Given the description of an element on the screen output the (x, y) to click on. 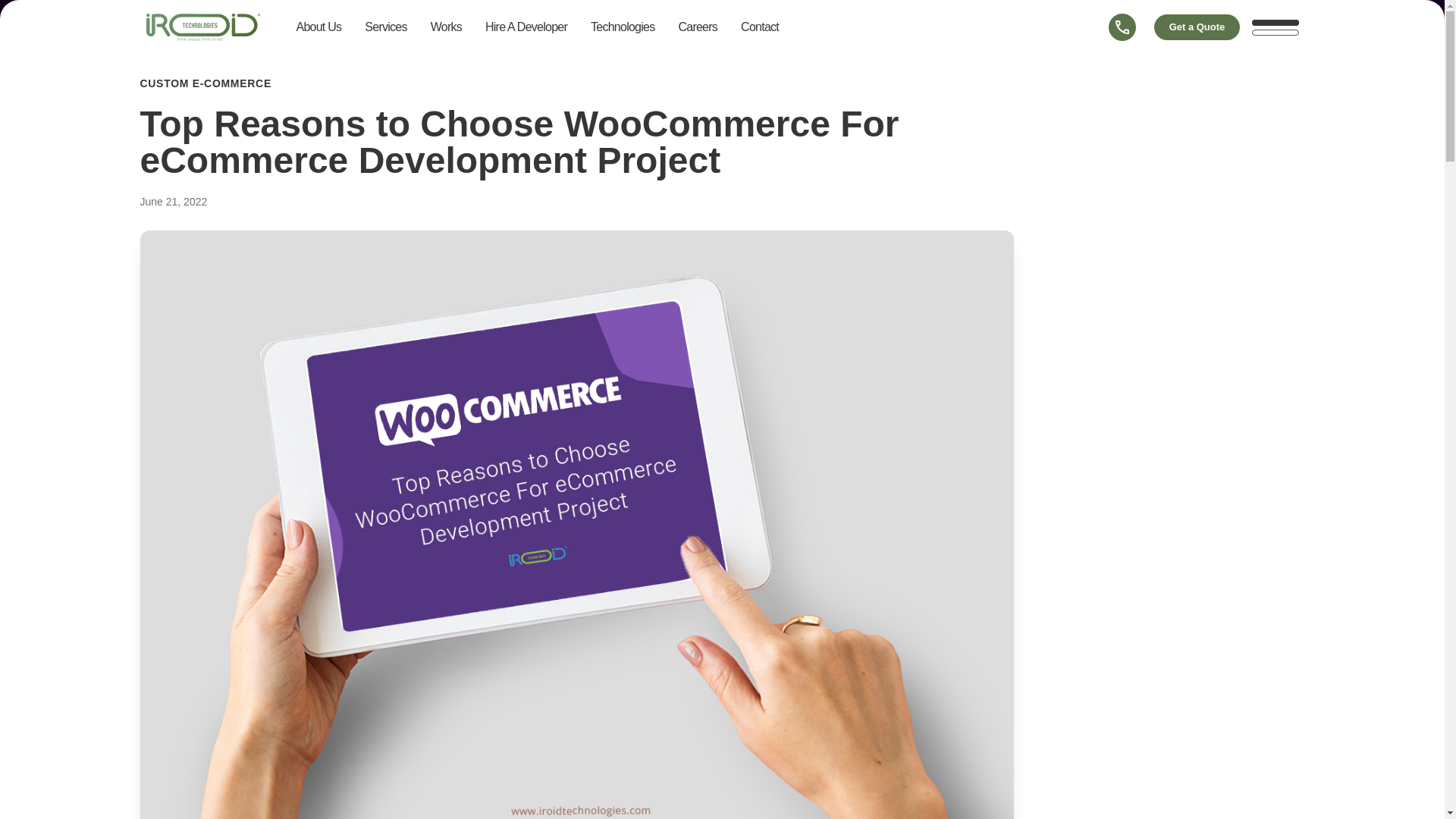
Technologies (622, 27)
Works (445, 27)
About Us (317, 27)
Services (385, 27)
Hire A Developer (525, 27)
